Given the description of an element on the screen output the (x, y) to click on. 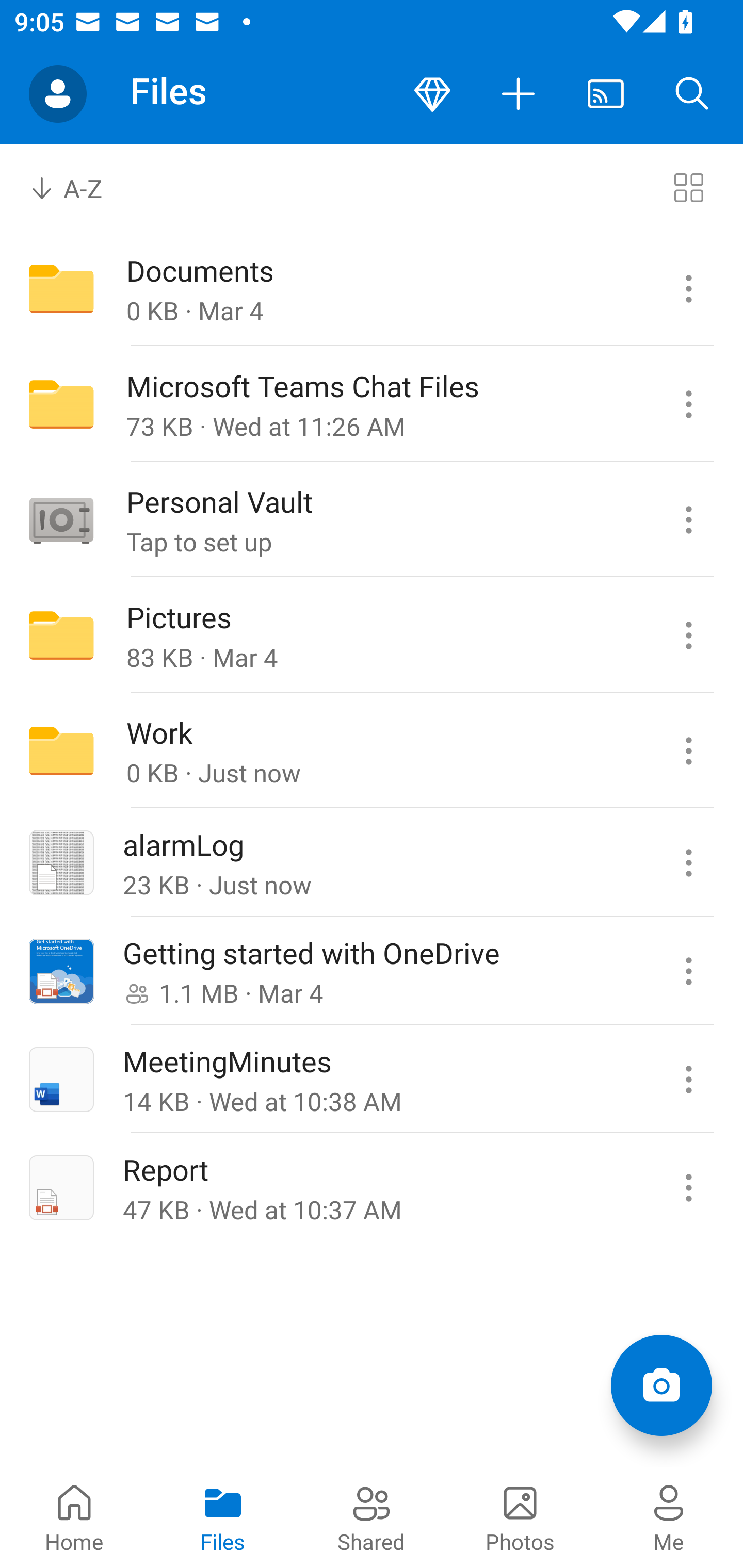
Account switcher (57, 93)
Cast. Disconnected (605, 93)
Premium button (432, 93)
More actions button (518, 93)
Search button (692, 93)
A-Z Sort by combo box, sort by name, A to Z (80, 187)
Switch to tiles view (688, 187)
Folder Documents 0 KB · Mar 4 Documents commands (371, 288)
Documents commands (688, 288)
Microsoft Teams Chat Files commands (688, 404)
Personal Vault commands (688, 519)
Folder Pictures 83 KB · Mar 4 Pictures commands (371, 635)
Pictures commands (688, 635)
Folder Work 0 KB · Just now Work commands (371, 751)
Work commands (688, 751)
alarmLog commands (688, 863)
Getting started with OneDrive commands (688, 971)
MeetingMinutes commands (688, 1079)
Report commands (688, 1187)
Add items Scan (660, 1385)
Home pivot Home (74, 1517)
Shared pivot Shared (371, 1517)
Photos pivot Photos (519, 1517)
Me pivot Me (668, 1517)
